Given the description of an element on the screen output the (x, y) to click on. 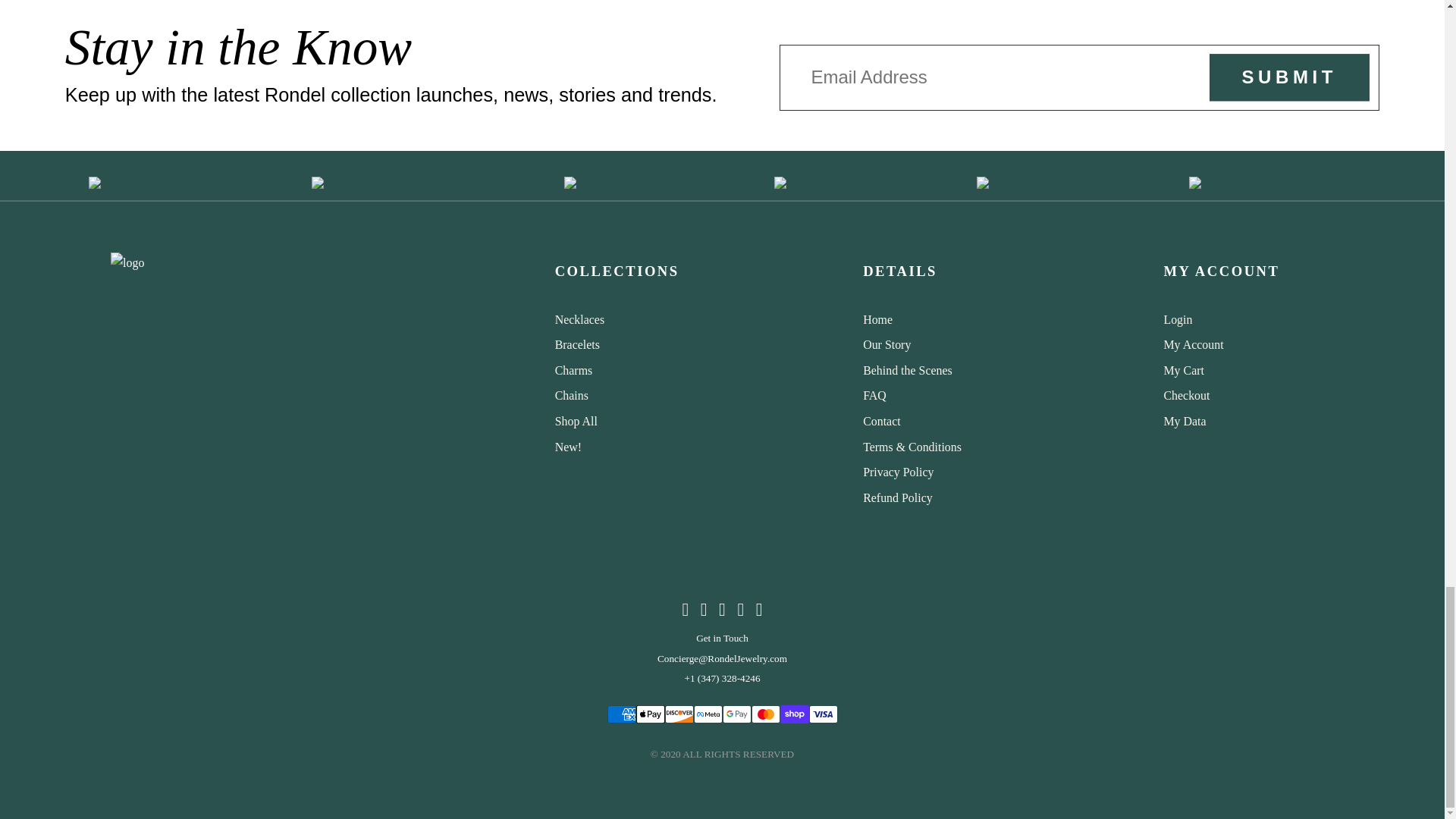
Discover (678, 714)
Apple Pay (648, 714)
Google Pay (736, 714)
Mastercard (764, 714)
Meta Pay (707, 714)
Shop Pay (793, 714)
American Express (620, 714)
Visa (822, 714)
